Given the description of an element on the screen output the (x, y) to click on. 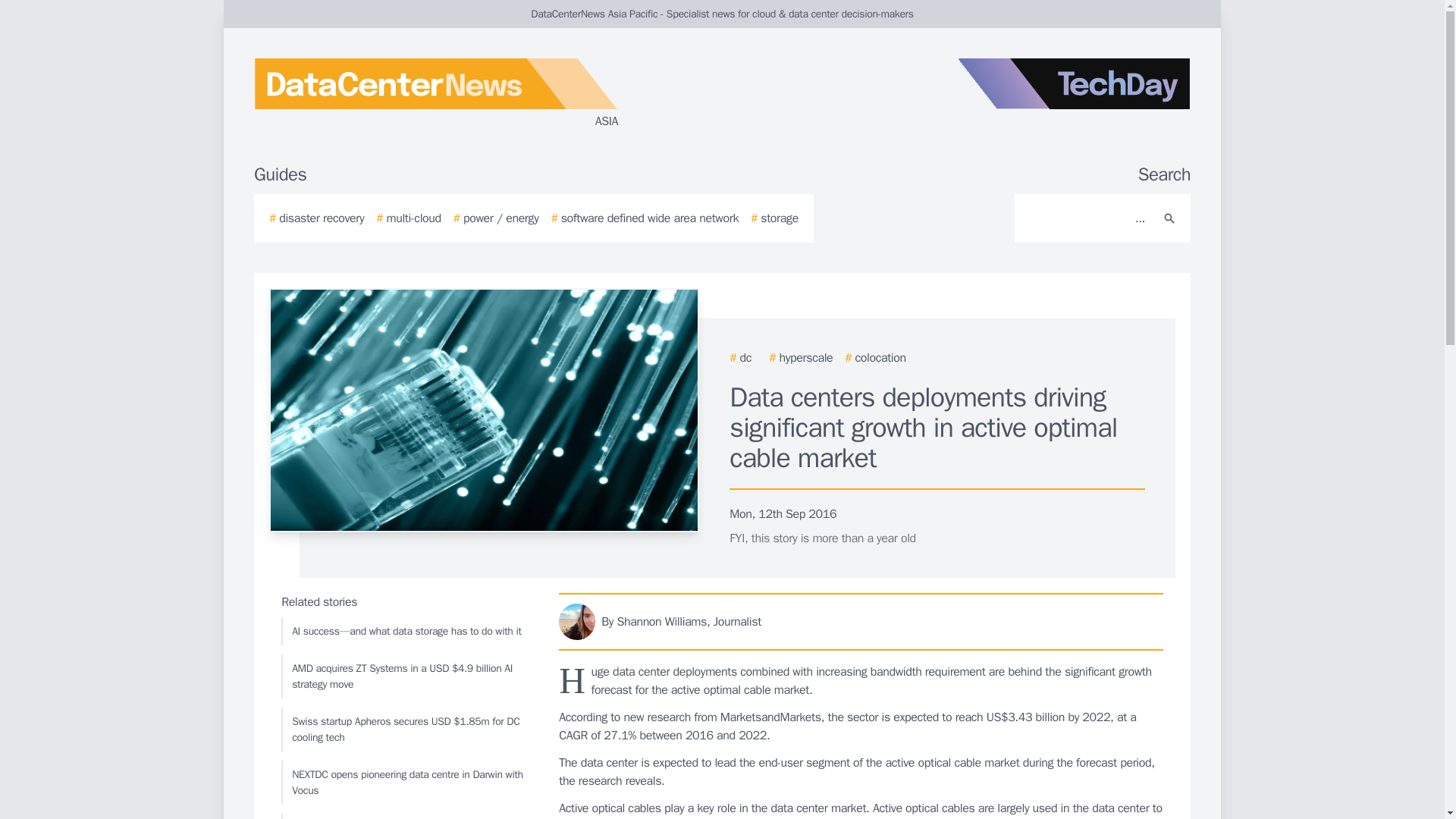
ASIA (435, 94)
By Shannon Williams, Journalist (861, 621)
NEXTDC opens pioneering data centre in Darwin with Vocus (406, 782)
